Given the description of an element on the screen output the (x, y) to click on. 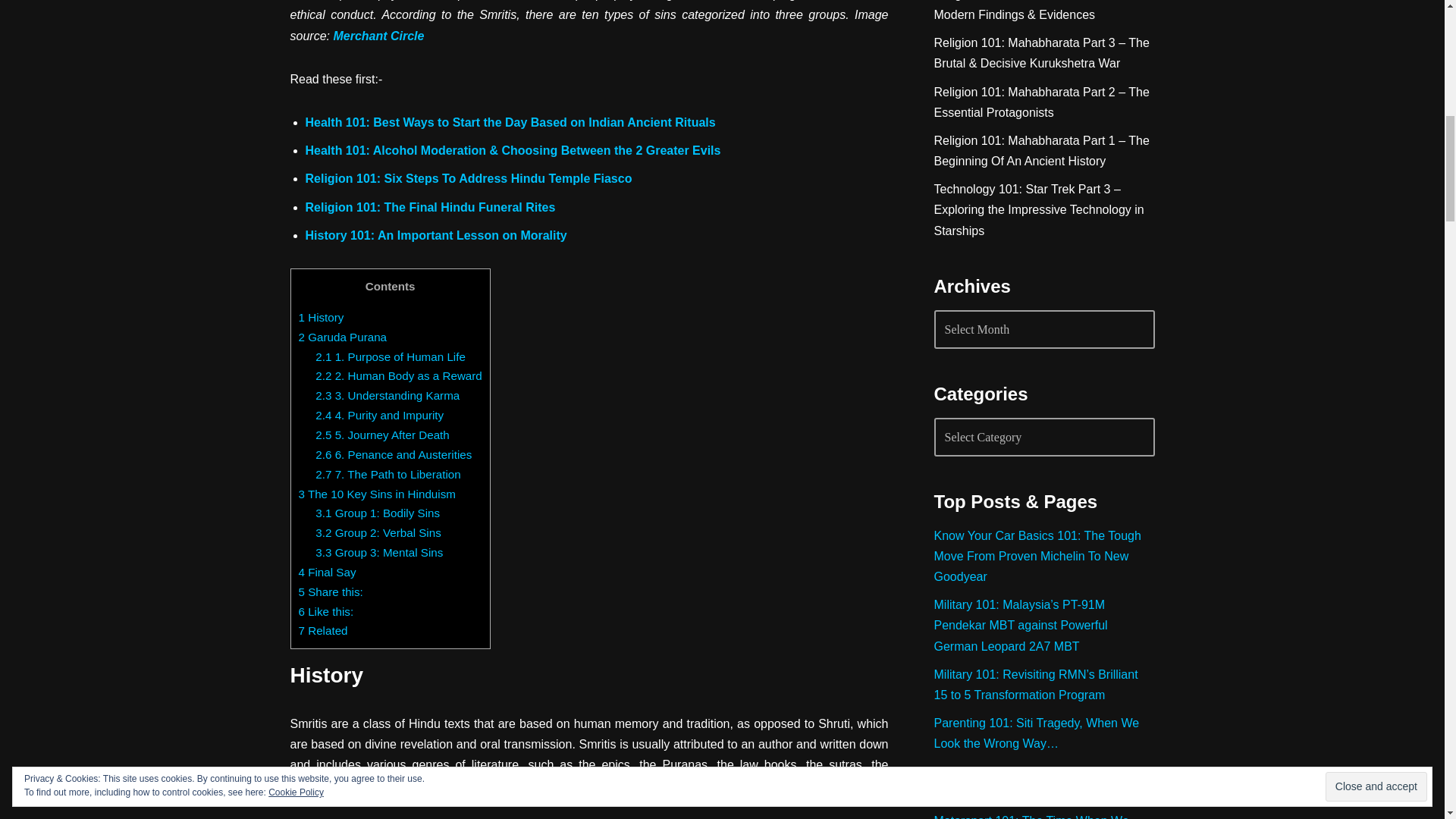
3.2 Group 2: Verbal Sins (378, 532)
Religion 101: The Final Hindu Funeral Rites (429, 206)
2.5 5. Journey After Death (381, 434)
2.2 2. Human Body as a Reward (398, 375)
Religion 101: Six Steps To Address Hindu Temple Fiasco (467, 178)
2.7 7. The Path to Liberation (387, 473)
3.1 Group 1: Bodily Sins (377, 512)
2.6 6. Penance and Austerities (393, 454)
1 History (320, 317)
2.3 3. Understanding Karma (387, 395)
3.3 Group 3: Mental Sins (378, 552)
2 Garuda Purana (342, 336)
4 Final Say (327, 571)
2.4 4. Purity and Impurity (379, 414)
